Given the description of an element on the screen output the (x, y) to click on. 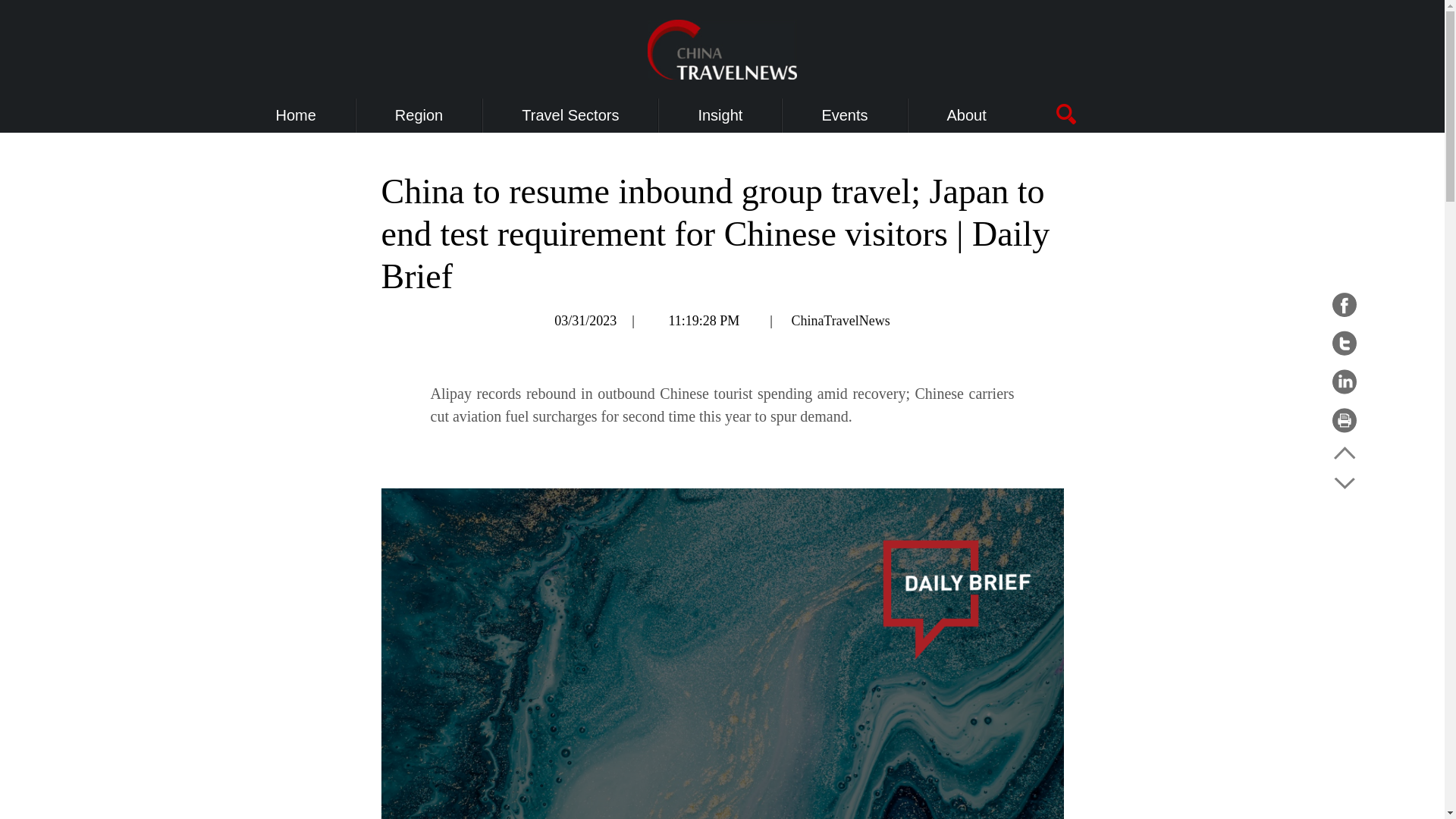
ChinaTravelNews (839, 320)
Events (844, 115)
About (967, 115)
Home (295, 115)
